Given the description of an element on the screen output the (x, y) to click on. 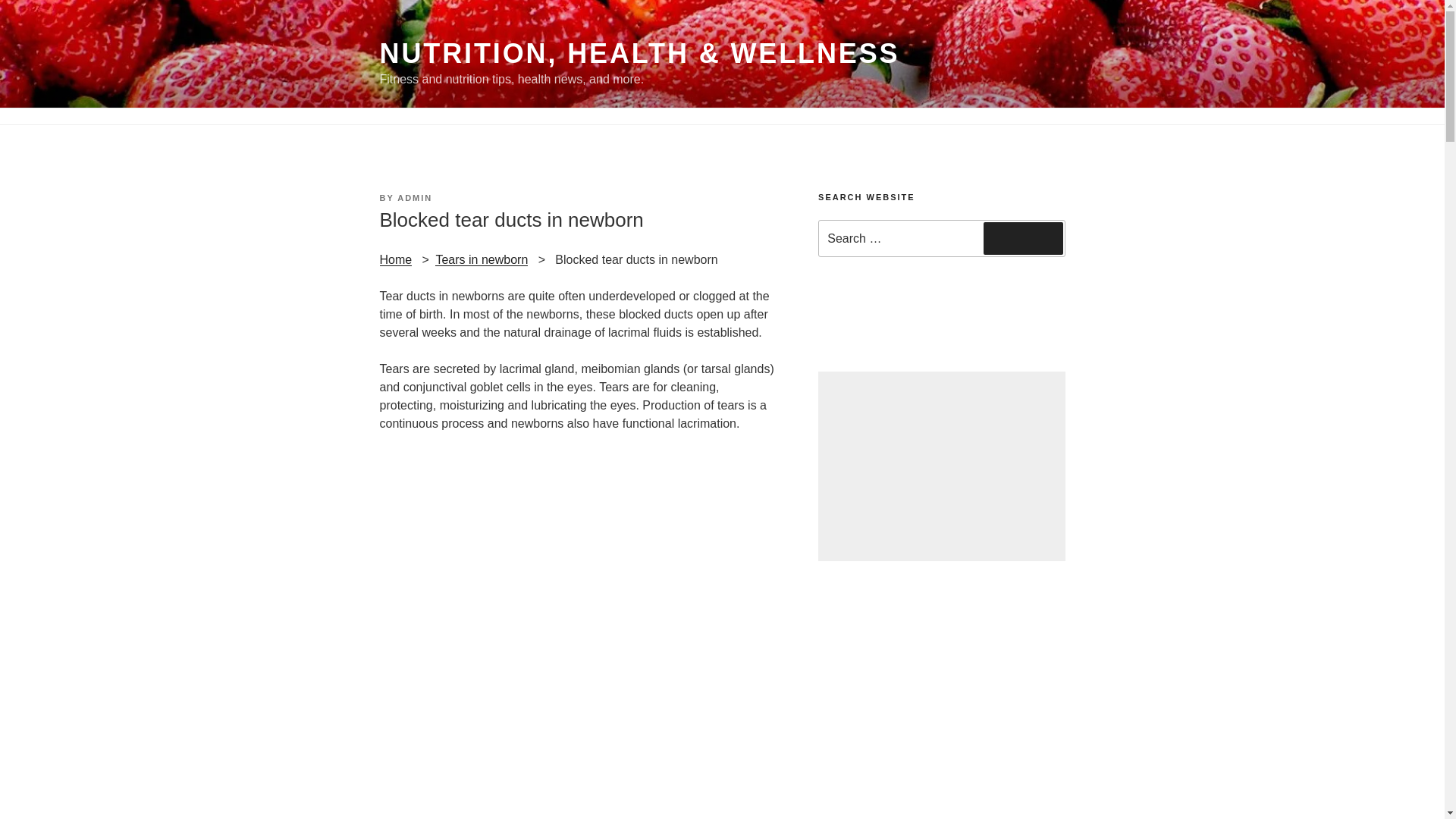
ADMIN (414, 197)
Home (395, 259)
Tears in newborn (481, 259)
